Given the description of an element on the screen output the (x, y) to click on. 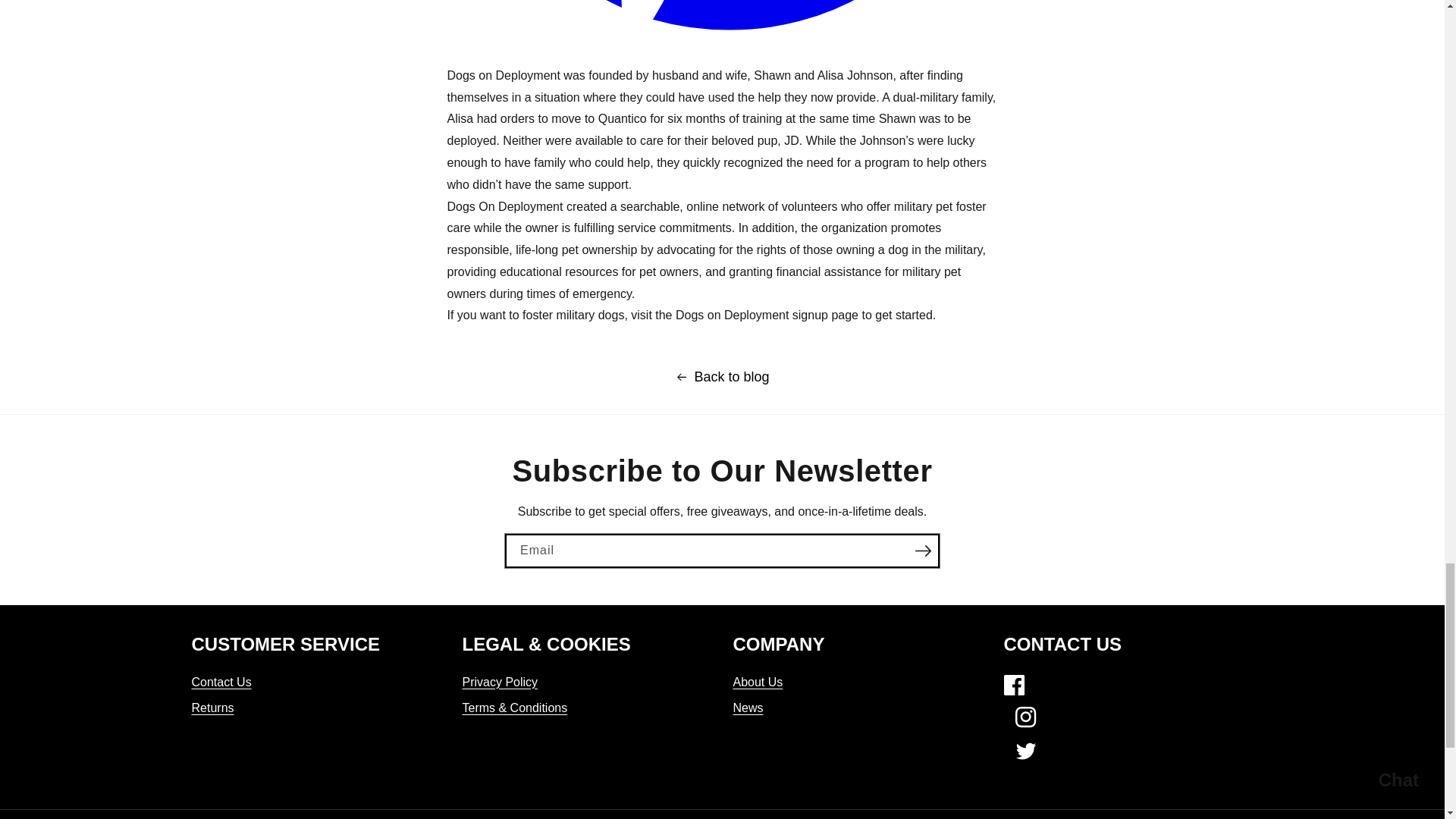
Contact Us (220, 683)
Privacy Policy (500, 683)
Returns (211, 708)
